Given the description of an element on the screen output the (x, y) to click on. 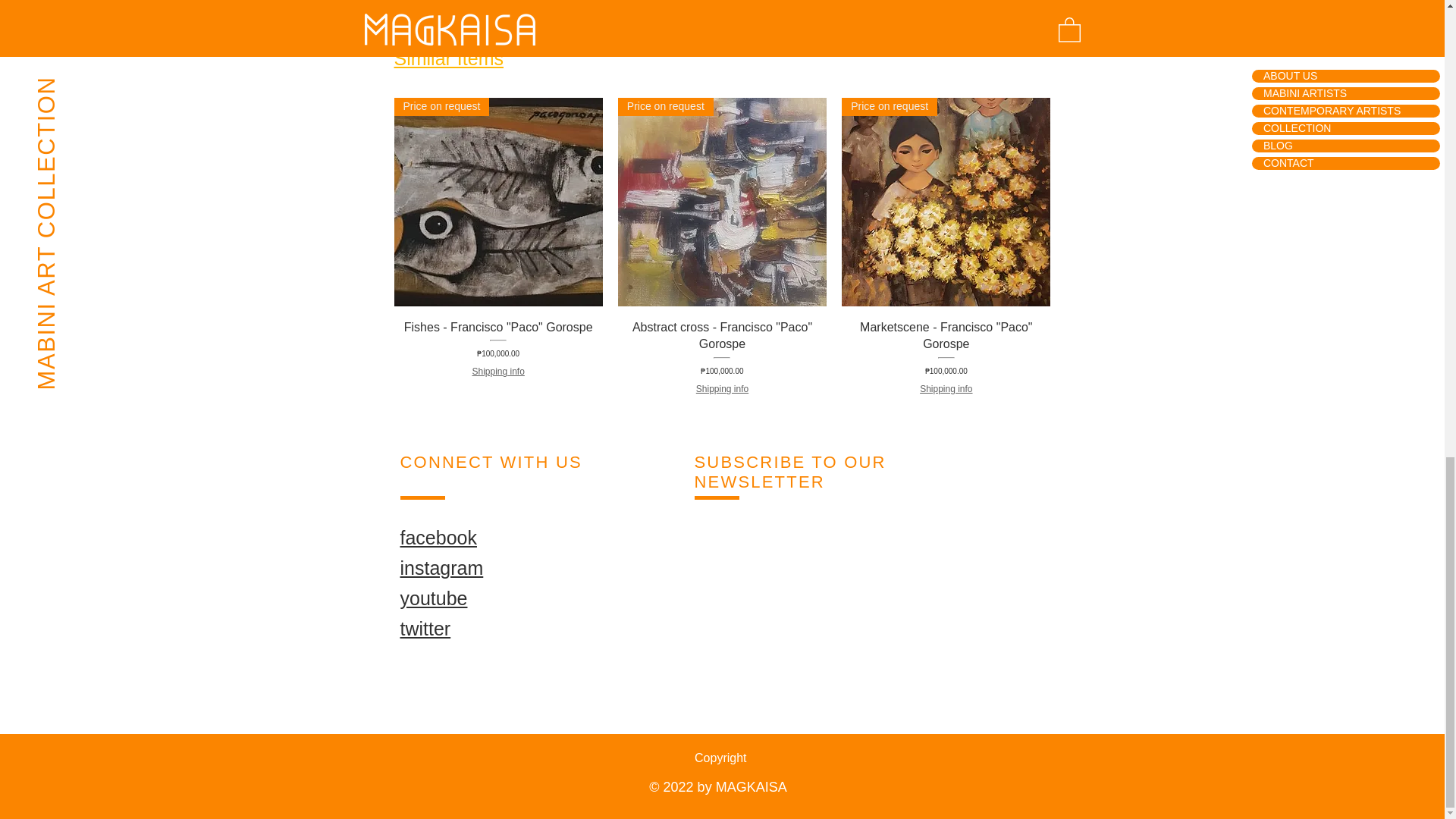
Price on request (722, 201)
Shipping info (946, 389)
Shipping info (721, 389)
Price on request (945, 201)
Shipping info (497, 371)
Price on request (498, 201)
